Given the description of an element on the screen output the (x, y) to click on. 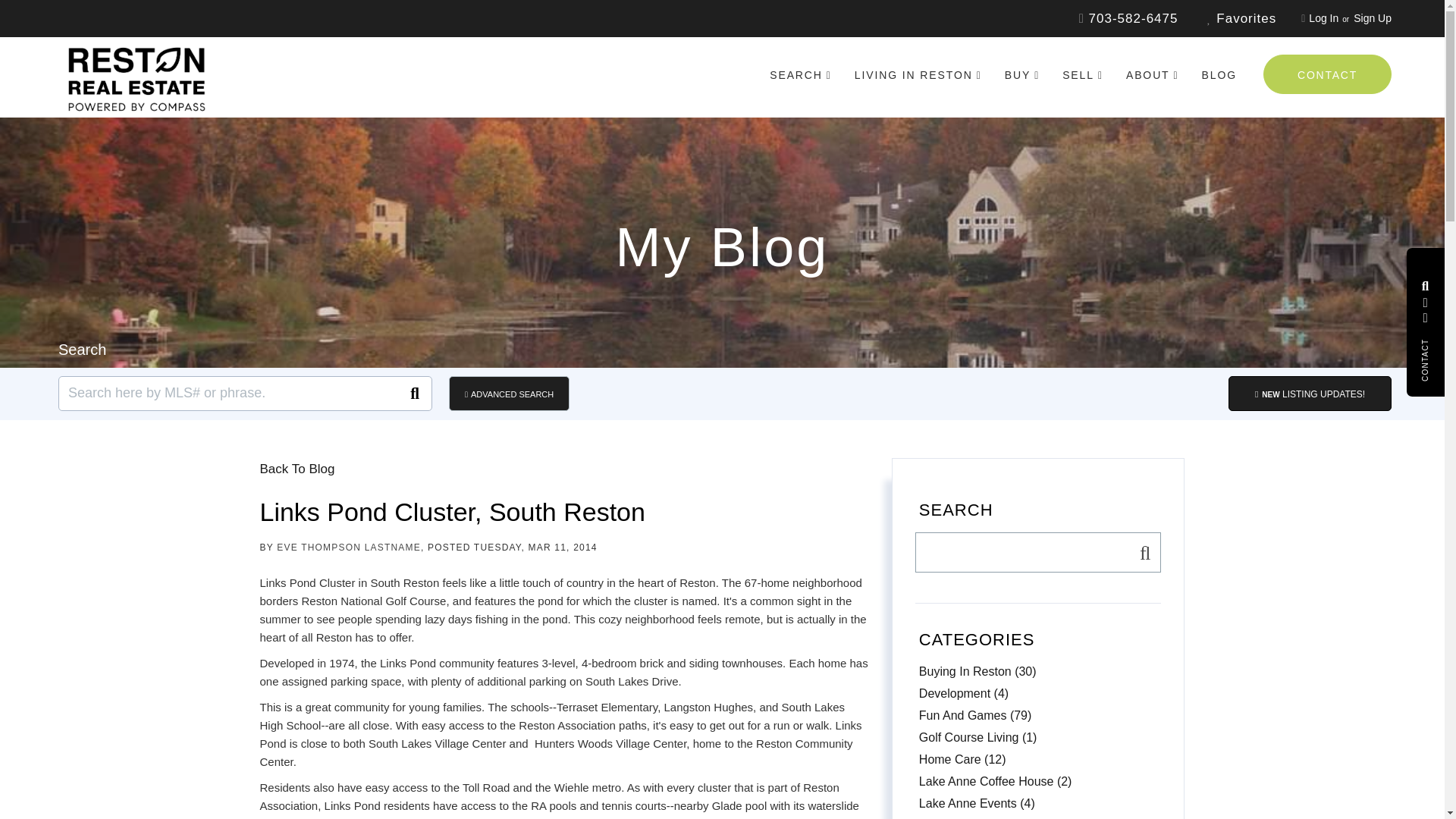
CONTACT (1327, 74)
Sign Up (1372, 18)
Search Listings (1425, 288)
Favorites (1241, 18)
LIVING IN RESTON (917, 75)
703-582-6475 (1127, 18)
Search (1140, 552)
BUY (1021, 75)
Log In (1323, 18)
SEARCH (800, 75)
